Given the description of an element on the screen output the (x, y) to click on. 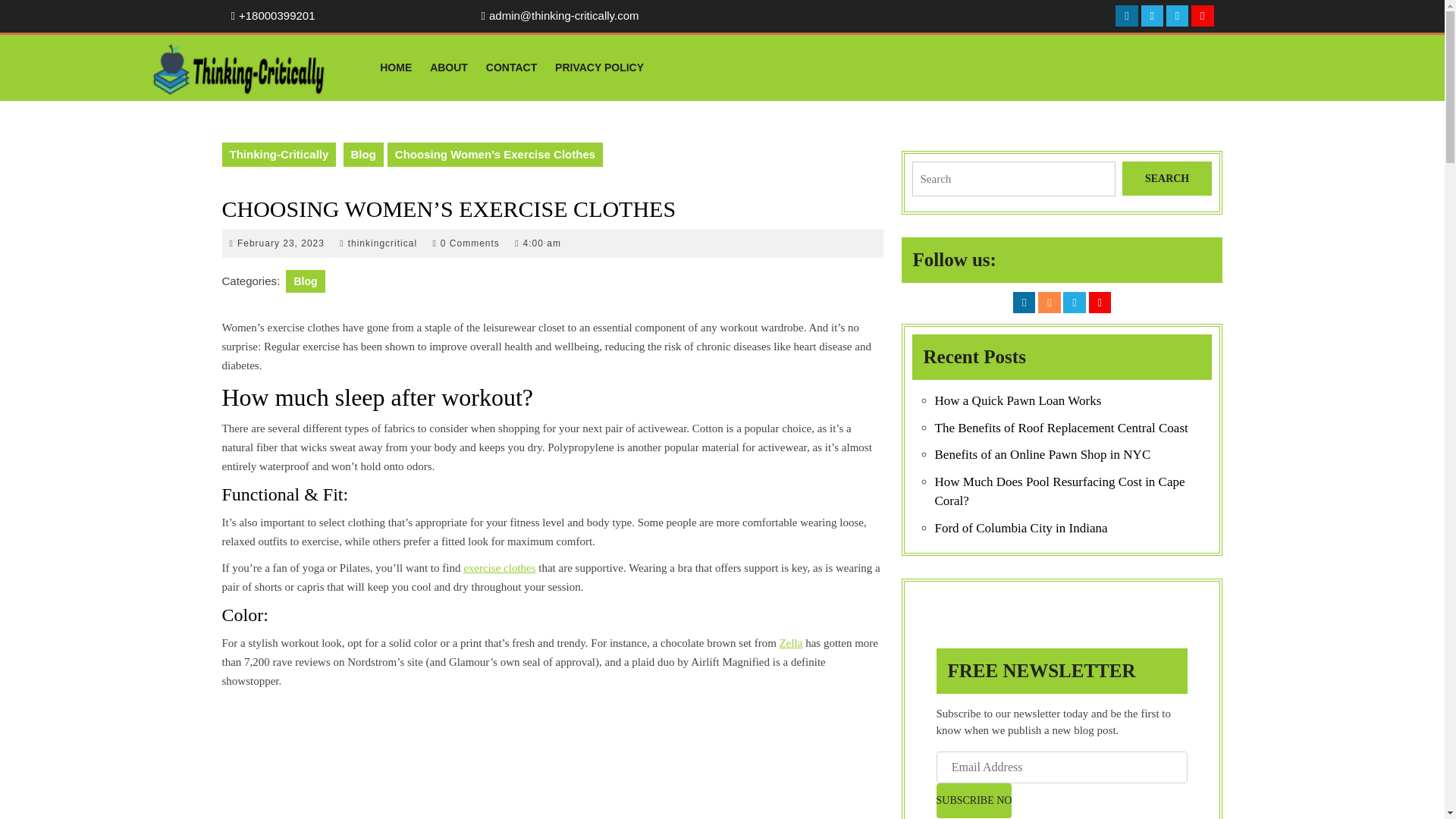
Thinking-Critically (278, 154)
SUBSCRIBE NOW (973, 800)
Blog (304, 281)
exercise clothes (499, 567)
PRIVACY POLICY (280, 243)
HOME (598, 67)
CONTACT (395, 67)
Linkedin (511, 67)
Zella (1152, 15)
